Given the description of an element on the screen output the (x, y) to click on. 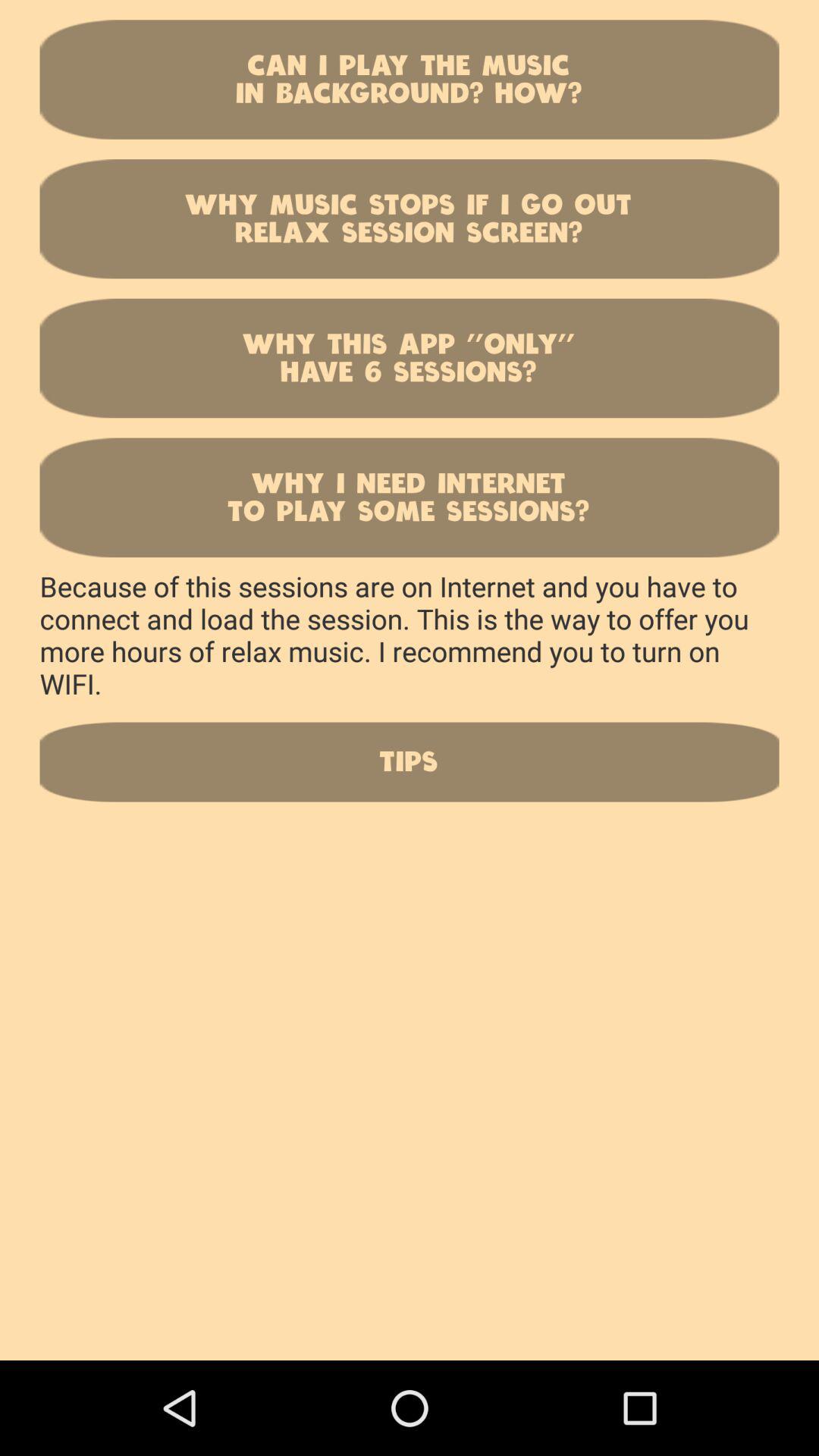
press why this app icon (409, 358)
